Given the description of an element on the screen output the (x, y) to click on. 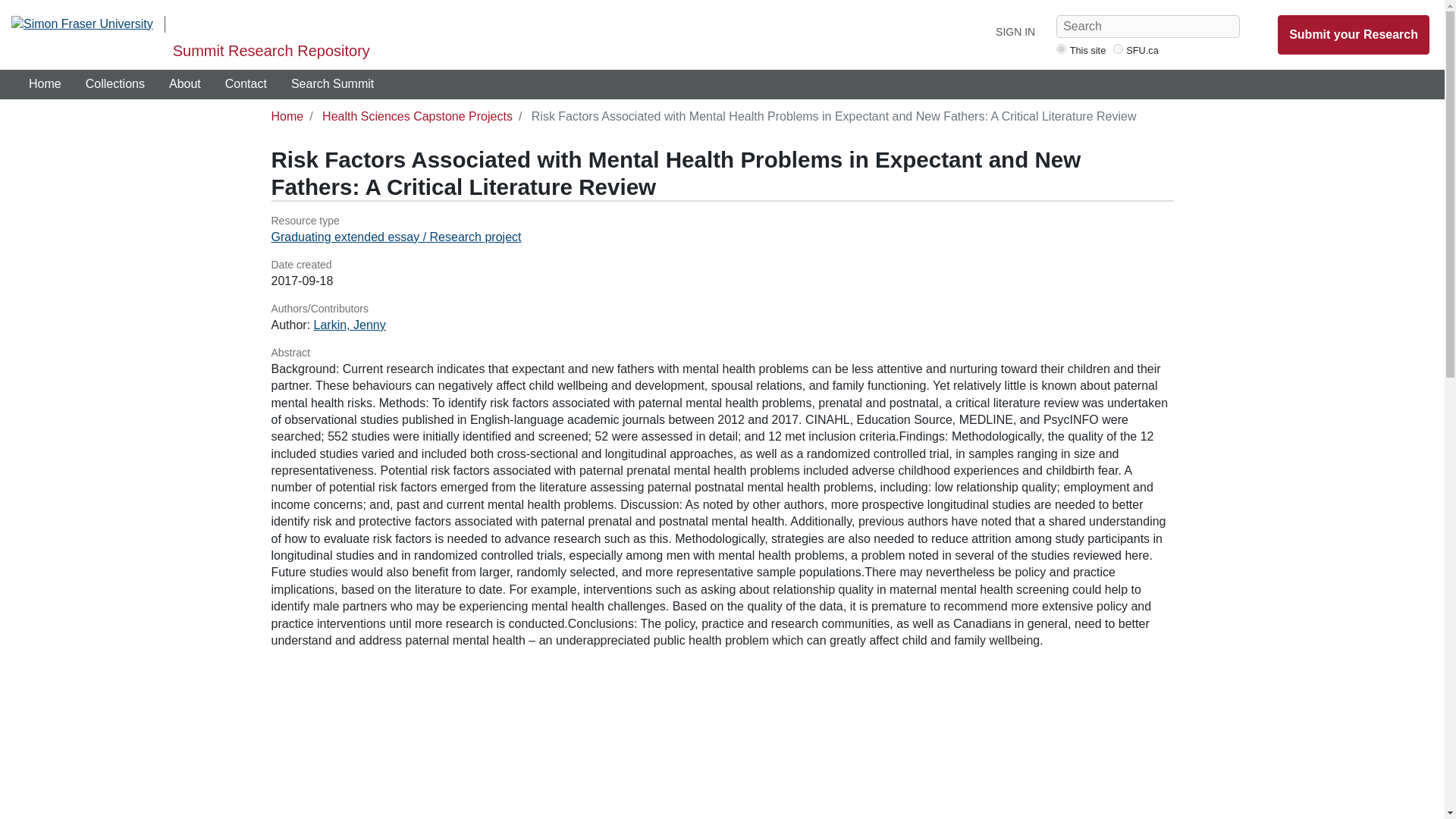
Submit your Research (1353, 34)
navbar-staff (1061, 49)
Abstract (721, 353)
Home (287, 115)
Contact (245, 83)
About this site (184, 83)
About (184, 83)
Search Summit (332, 83)
Browse SFU collections of theses and published works (115, 83)
Contact details (245, 83)
